Given the description of an element on the screen output the (x, y) to click on. 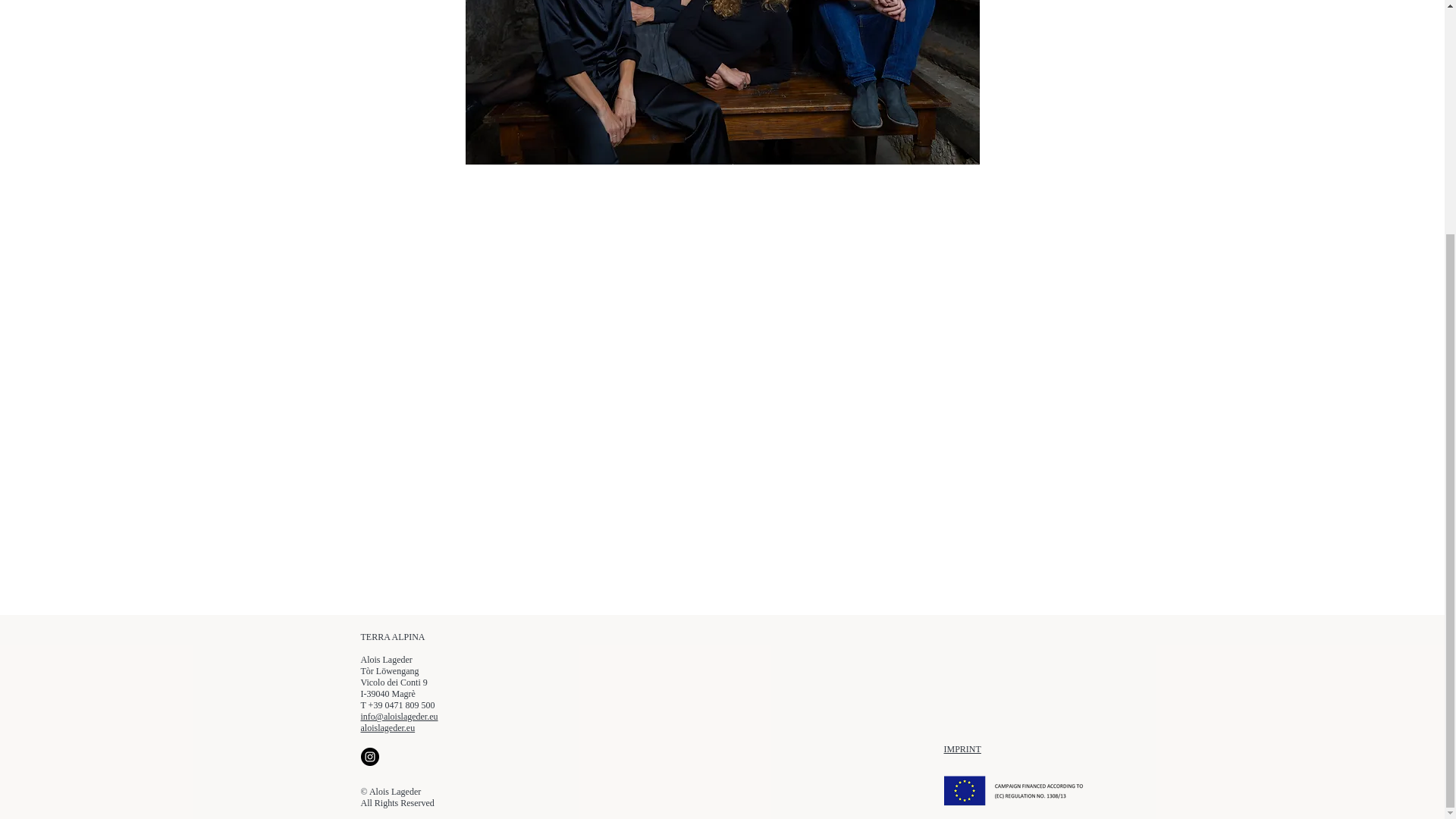
aloislageder.eu (387, 727)
footer-00-01-2.png (1013, 790)
IMPRINT (961, 748)
